Given the description of an element on the screen output the (x, y) to click on. 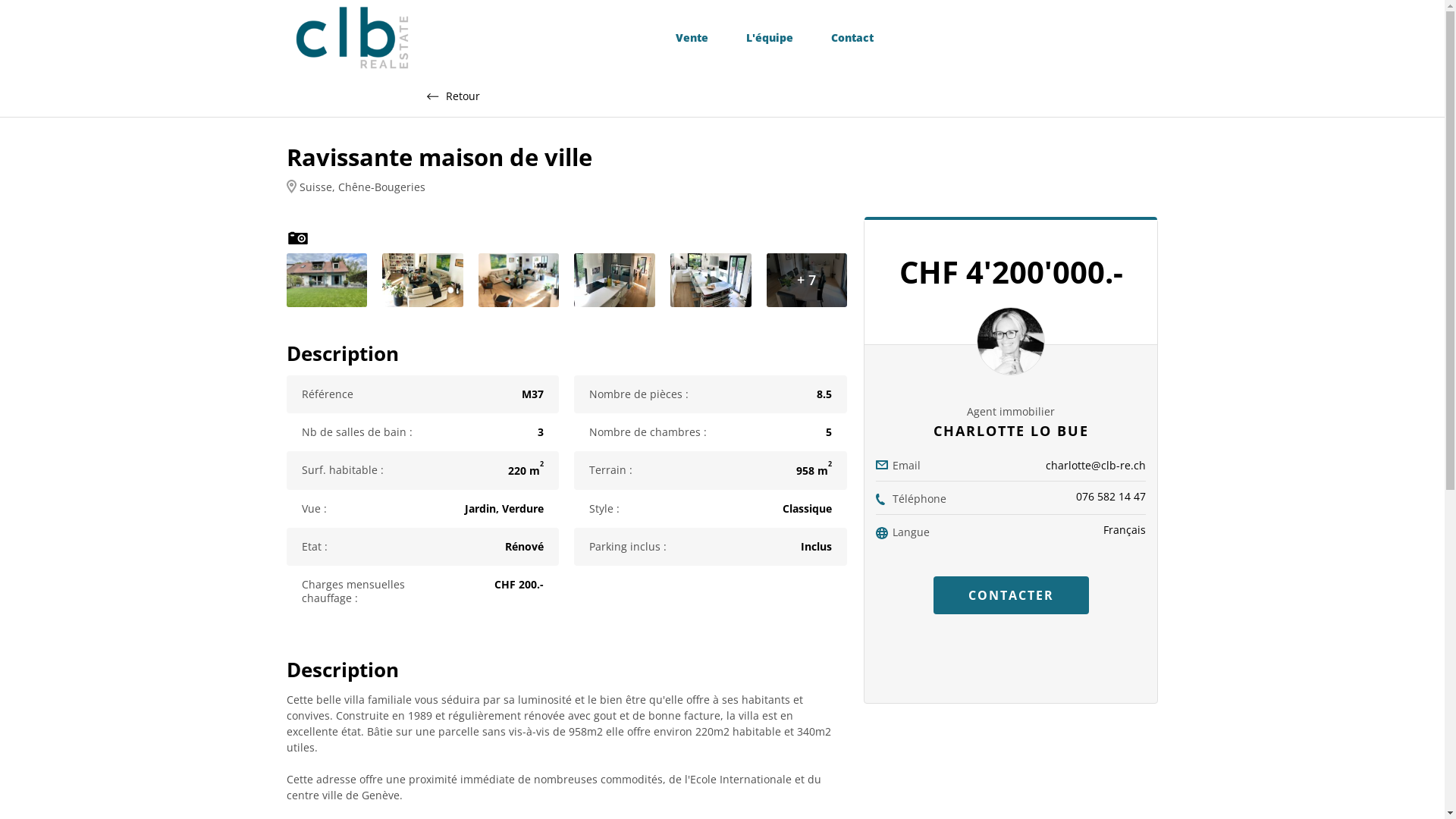
Contact Element type: text (852, 37)
CONTACTER Element type: text (1010, 595)
Vente Element type: text (691, 37)
charlotte@clb-re.ch Element type: text (1095, 465)
076 582 14 47 Element type: text (1110, 496)
Retour Element type: text (452, 96)
+ 7 Element type: text (806, 280)
